Given the description of an element on the screen output the (x, y) to click on. 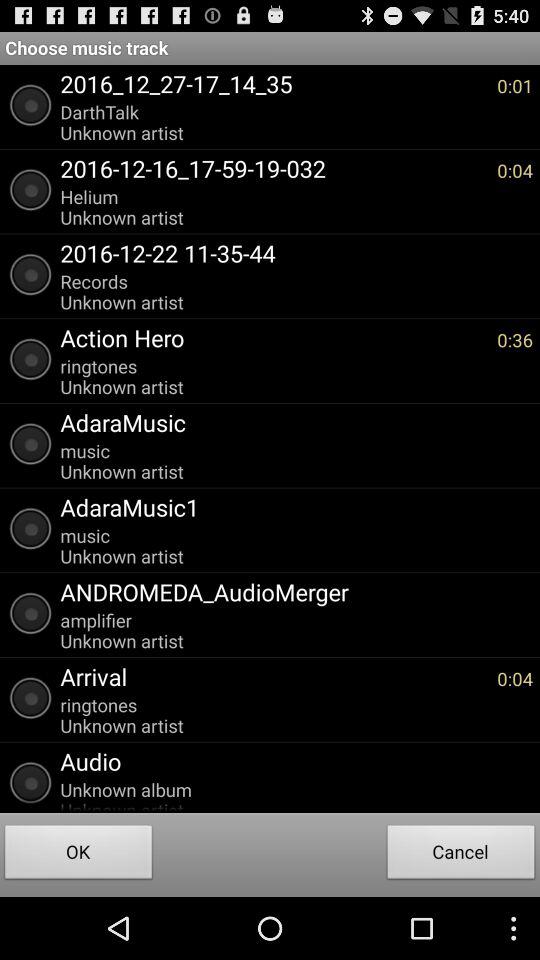
turn off the item below the records
unknown artist (273, 337)
